Given the description of an element on the screen output the (x, y) to click on. 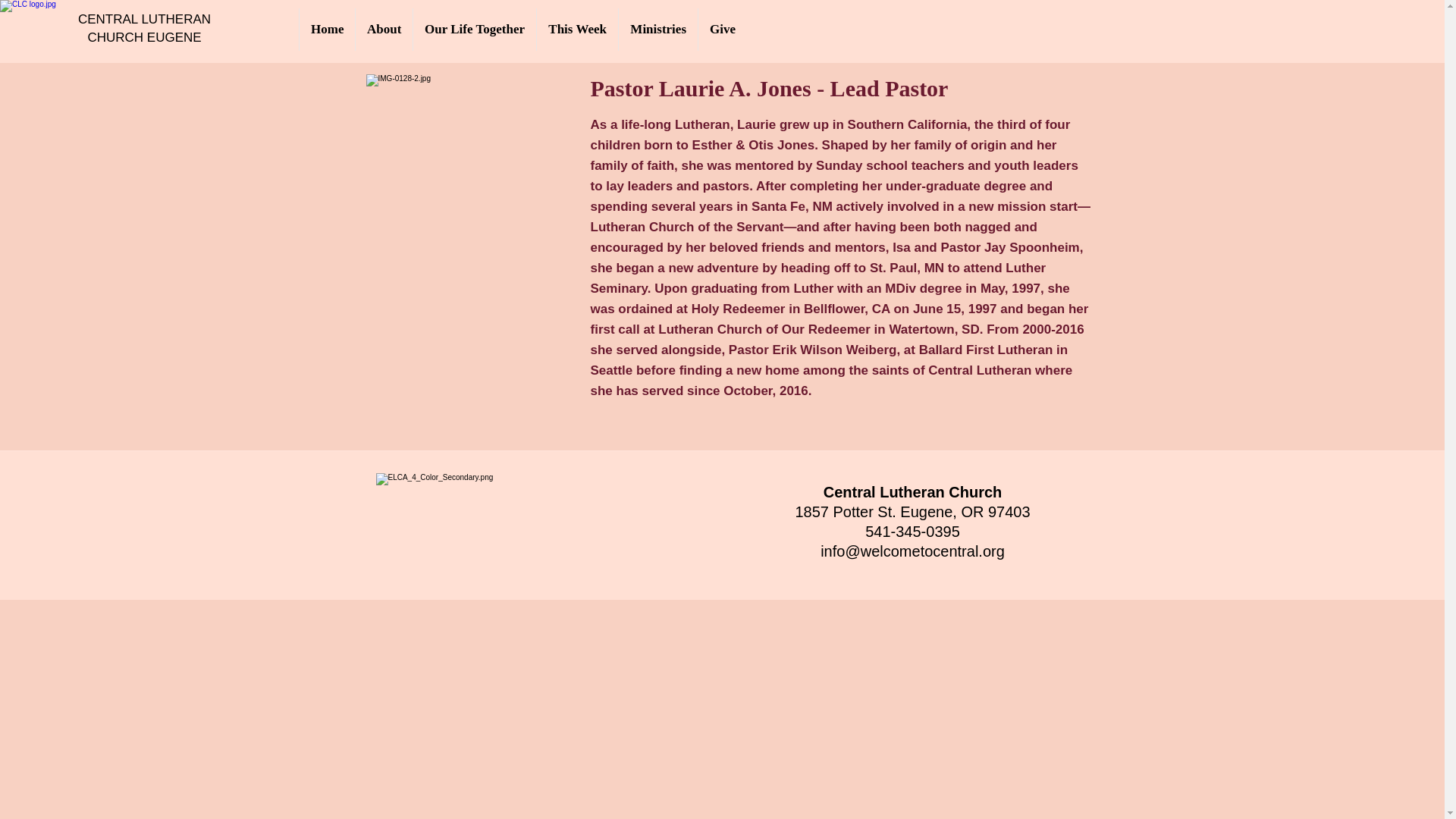
CENTRAL LUTHERAN (144, 19)
Give (721, 29)
Home (326, 29)
This Week (576, 29)
CHURCH EUGENE (143, 37)
